Given the description of an element on the screen output the (x, y) to click on. 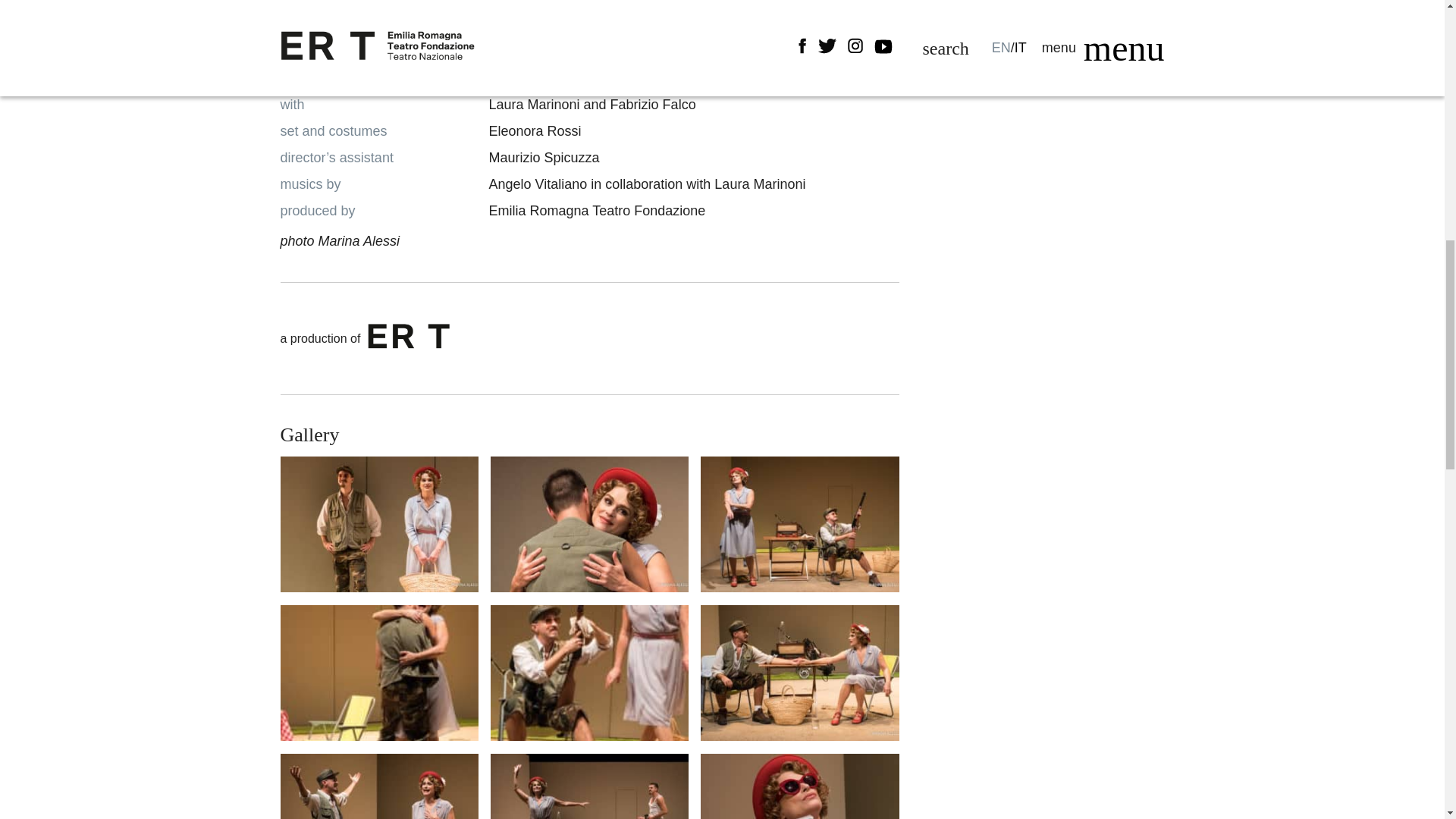
Arizona Gallery Image (589, 786)
Arizona Gallery Image (799, 673)
Arizona Gallery Image (589, 524)
Arizona Gallery Image (799, 786)
Arizona Gallery Image (799, 524)
Arizona Gallery Image (380, 786)
Arizona Gallery Image (380, 673)
Arizona Gallery Image (380, 524)
Arizona Gallery Image (589, 673)
